Given the description of an element on the screen output the (x, y) to click on. 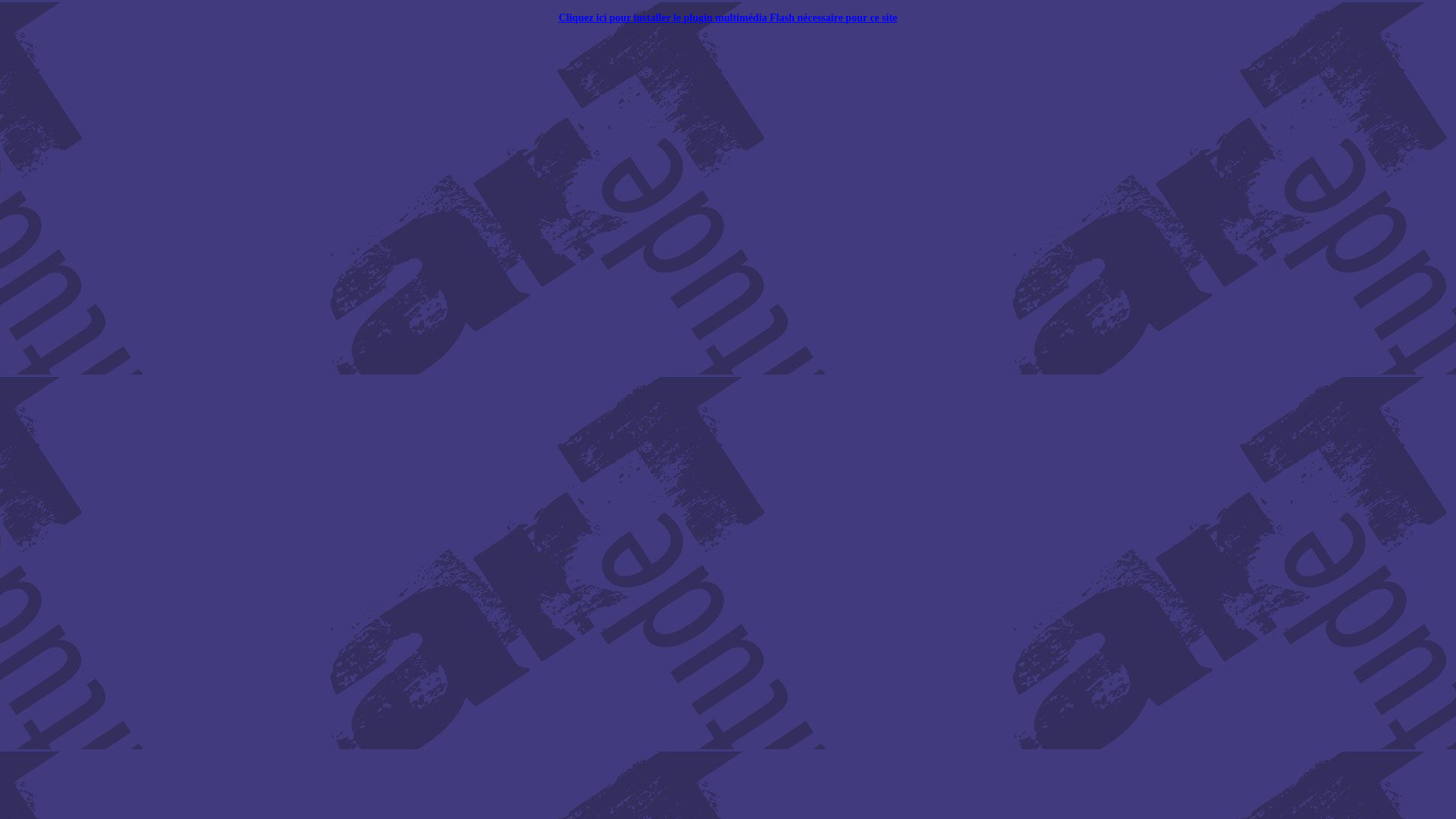
  Element type: text (270, 6)
  Element type: text (270, 591)
